Given the description of an element on the screen output the (x, y) to click on. 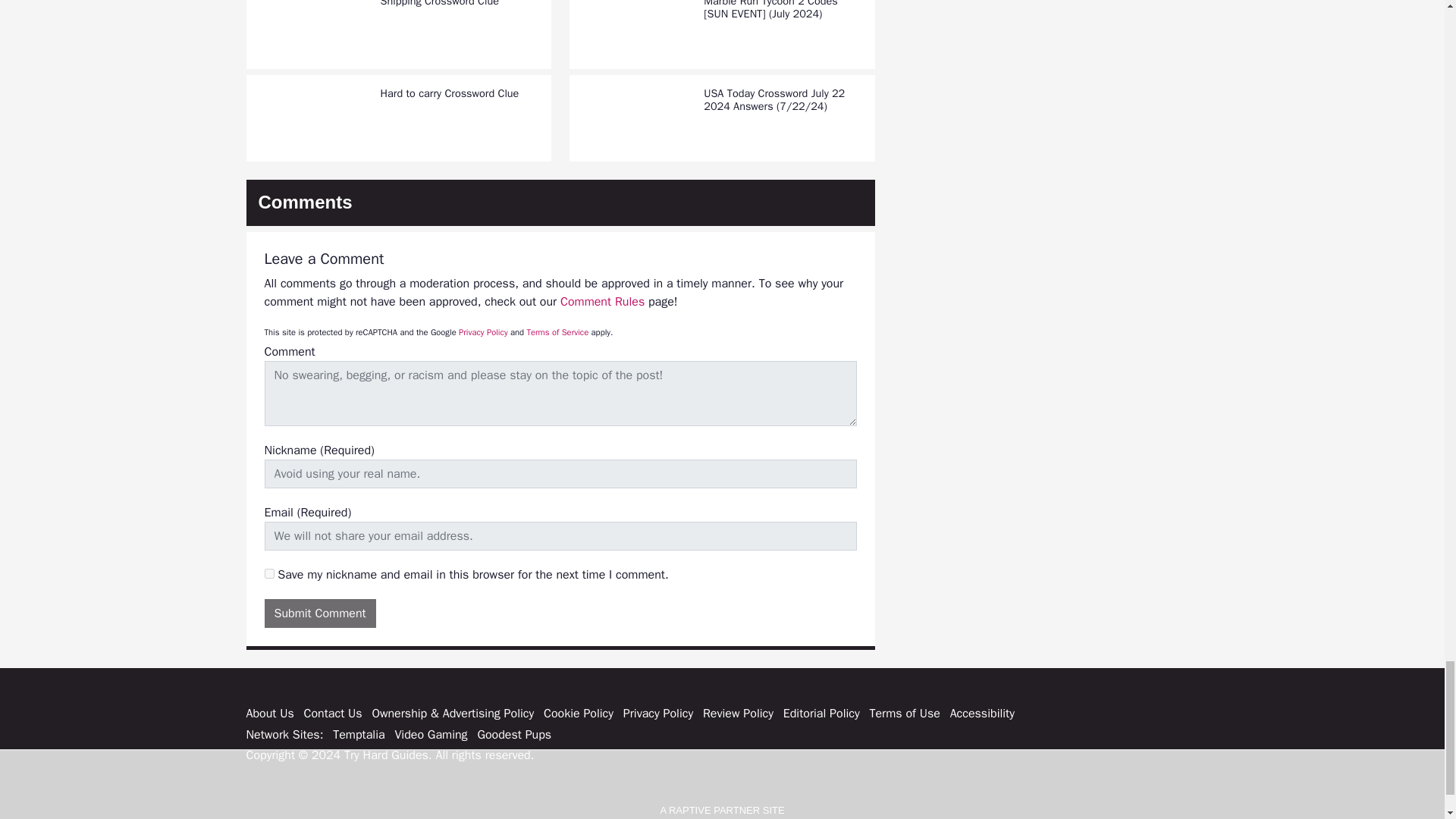
Submit Comment (319, 613)
on (268, 573)
